Given the description of an element on the screen output the (x, y) to click on. 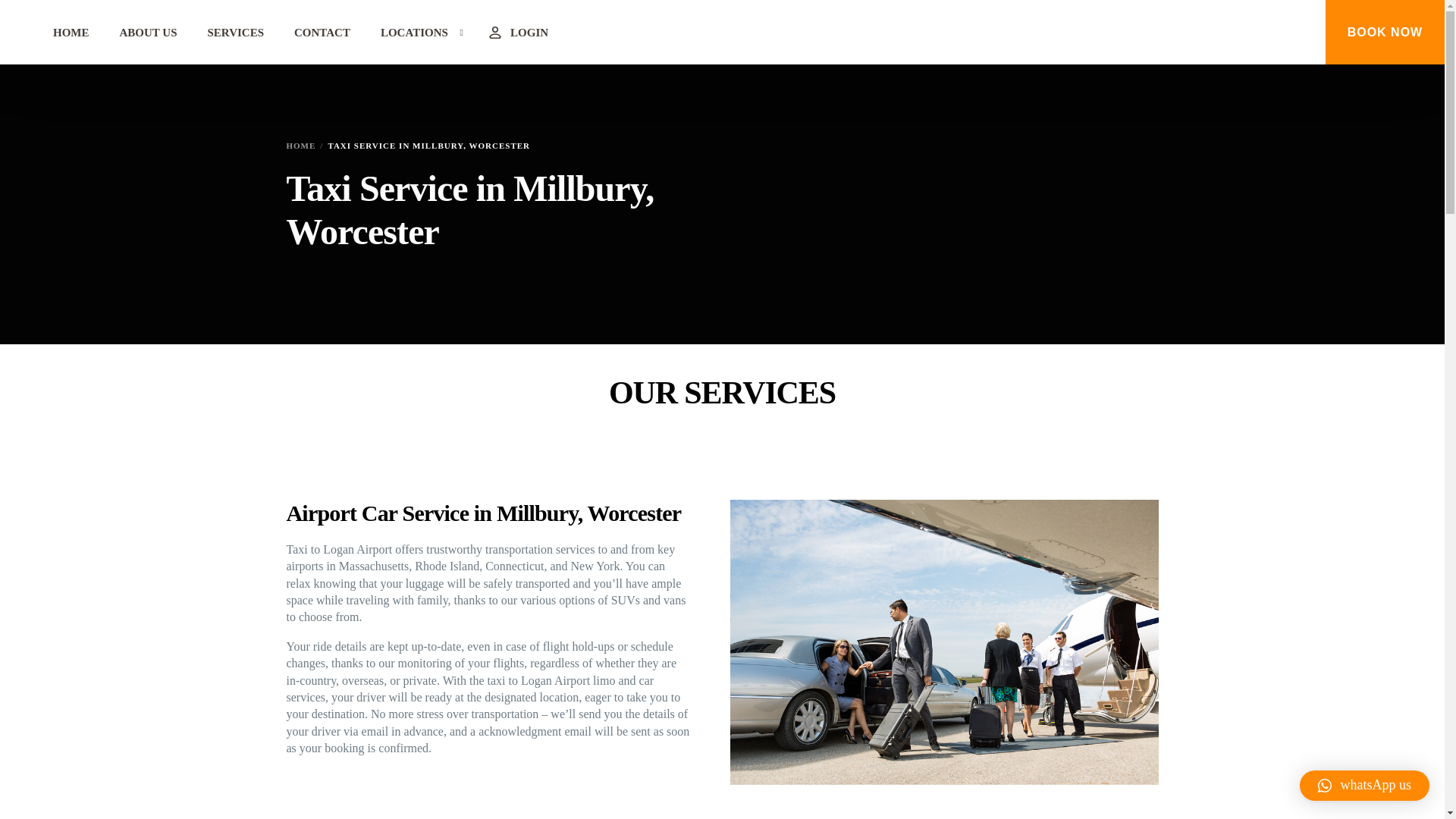
LOGIN (516, 32)
SERVICES (235, 32)
CONTACT (322, 32)
LOCATIONS (417, 32)
ABOUT US (148, 32)
HOME (300, 144)
